Given the description of an element on the screen output the (x, y) to click on. 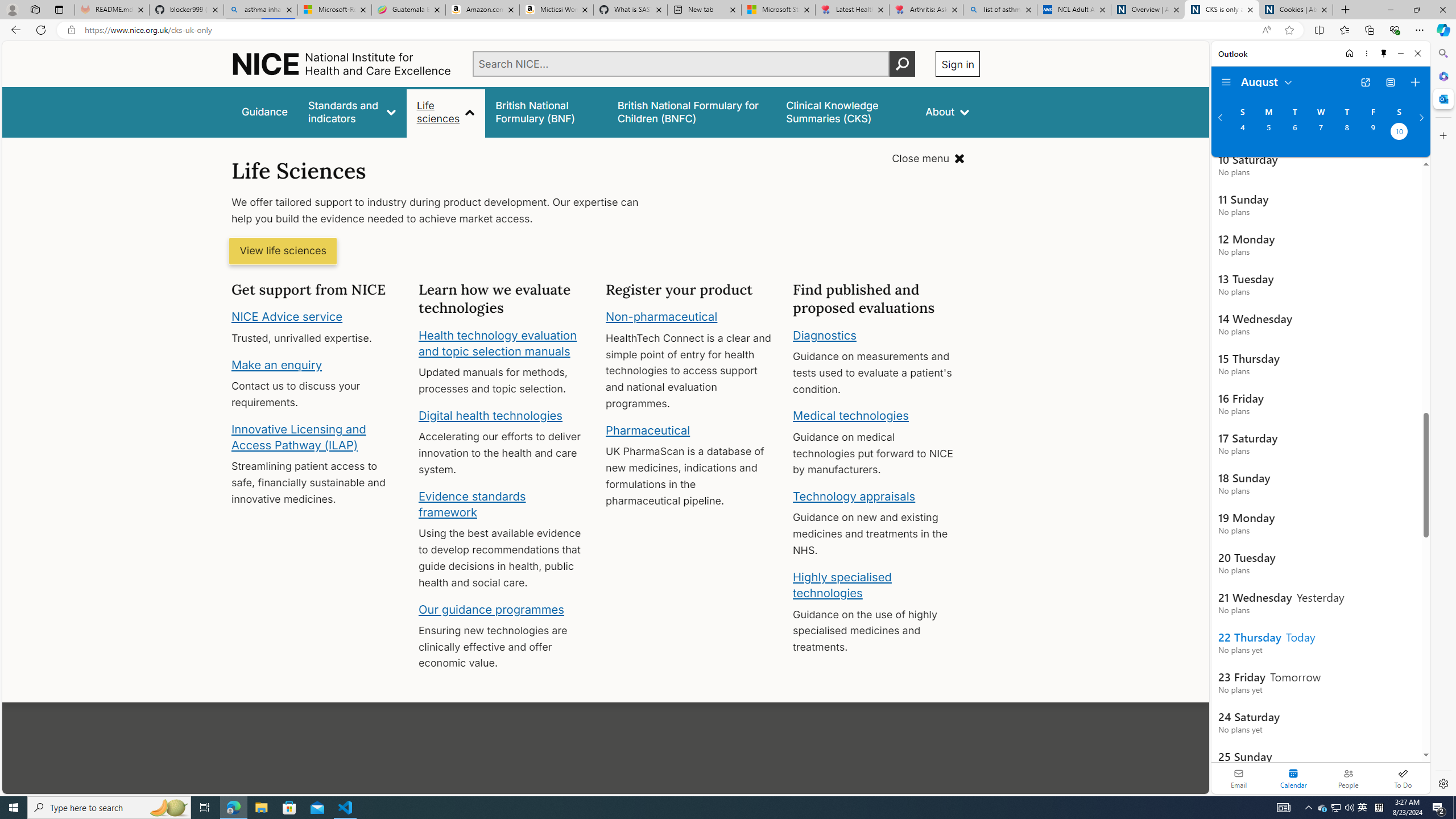
Our guidance programmes (490, 608)
August (1267, 80)
CKS is only available in the UK | NICE (1221, 9)
Thursday, August 8, 2024.  (1346, 132)
false (845, 111)
Tuesday, August 6, 2024.  (1294, 132)
Saturday, August 10, 2024. Date selected.  (1399, 132)
Evidence standards framework (471, 503)
Selected calendar module. Date today is 22 (1293, 777)
